Given the description of an element on the screen output the (x, y) to click on. 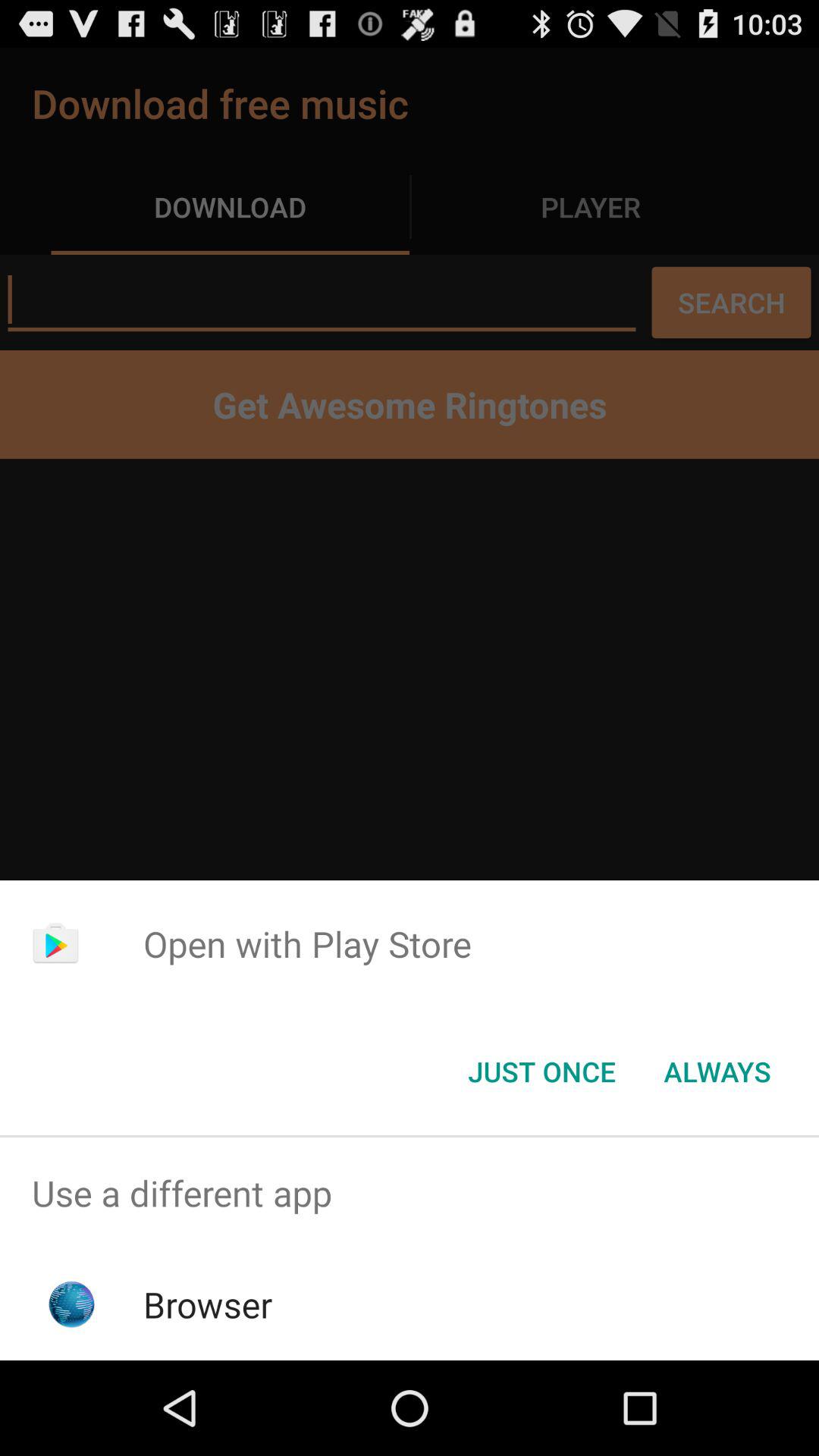
scroll to the browser icon (207, 1304)
